Given the description of an element on the screen output the (x, y) to click on. 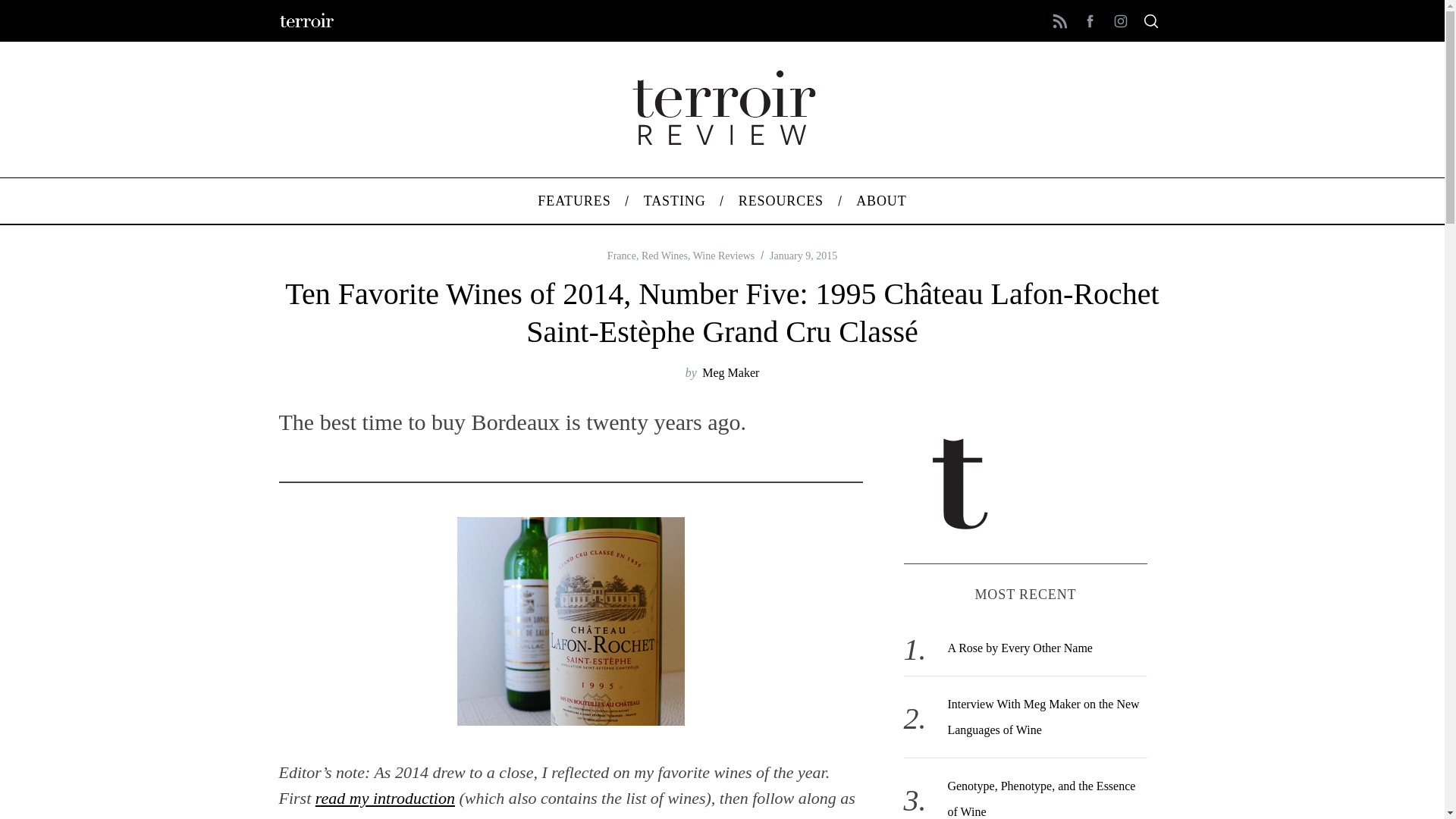
Wine Reviews (723, 255)
Ten Favorite Wines of 2014 (384, 797)
ABOUT (881, 200)
Meg Maker (729, 372)
Red Wines (664, 255)
read my introduction (384, 797)
France (621, 255)
TASTING (674, 200)
RESOURCES (781, 200)
